Given the description of an element on the screen output the (x, y) to click on. 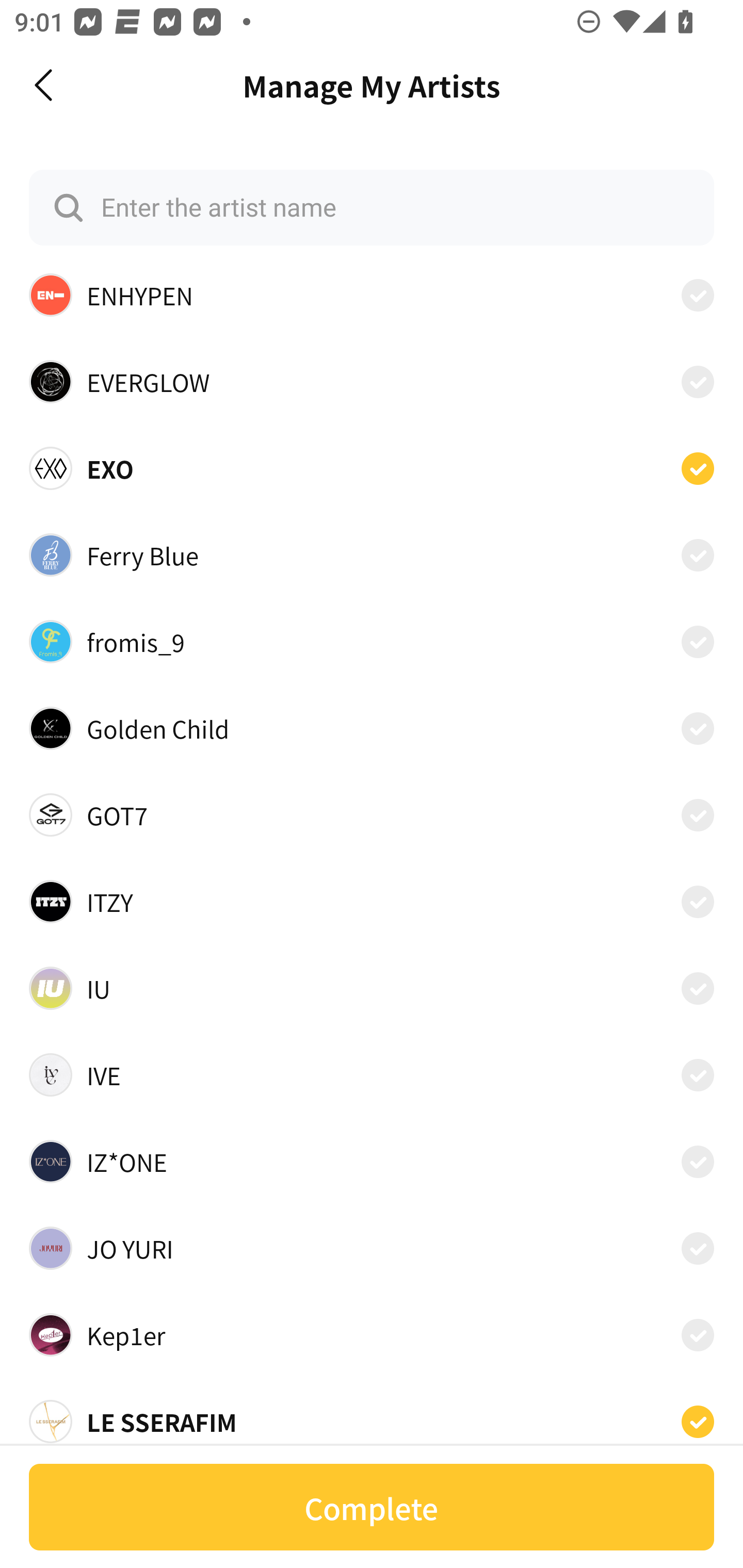
Enter the artist name (371, 207)
ENHYPEN (371, 294)
EVERGLOW (371, 381)
EXO (371, 467)
Ferry Blue (371, 555)
fromis_9 (371, 641)
Golden Child (371, 728)
GOT7 (371, 815)
ITZY (371, 901)
IU (371, 987)
IVE (371, 1074)
IZ*ONE (371, 1161)
JO YURI (371, 1248)
Kep1er (371, 1334)
LE SSERAFIM (371, 1421)
Complete (371, 1507)
